Given the description of an element on the screen output the (x, y) to click on. 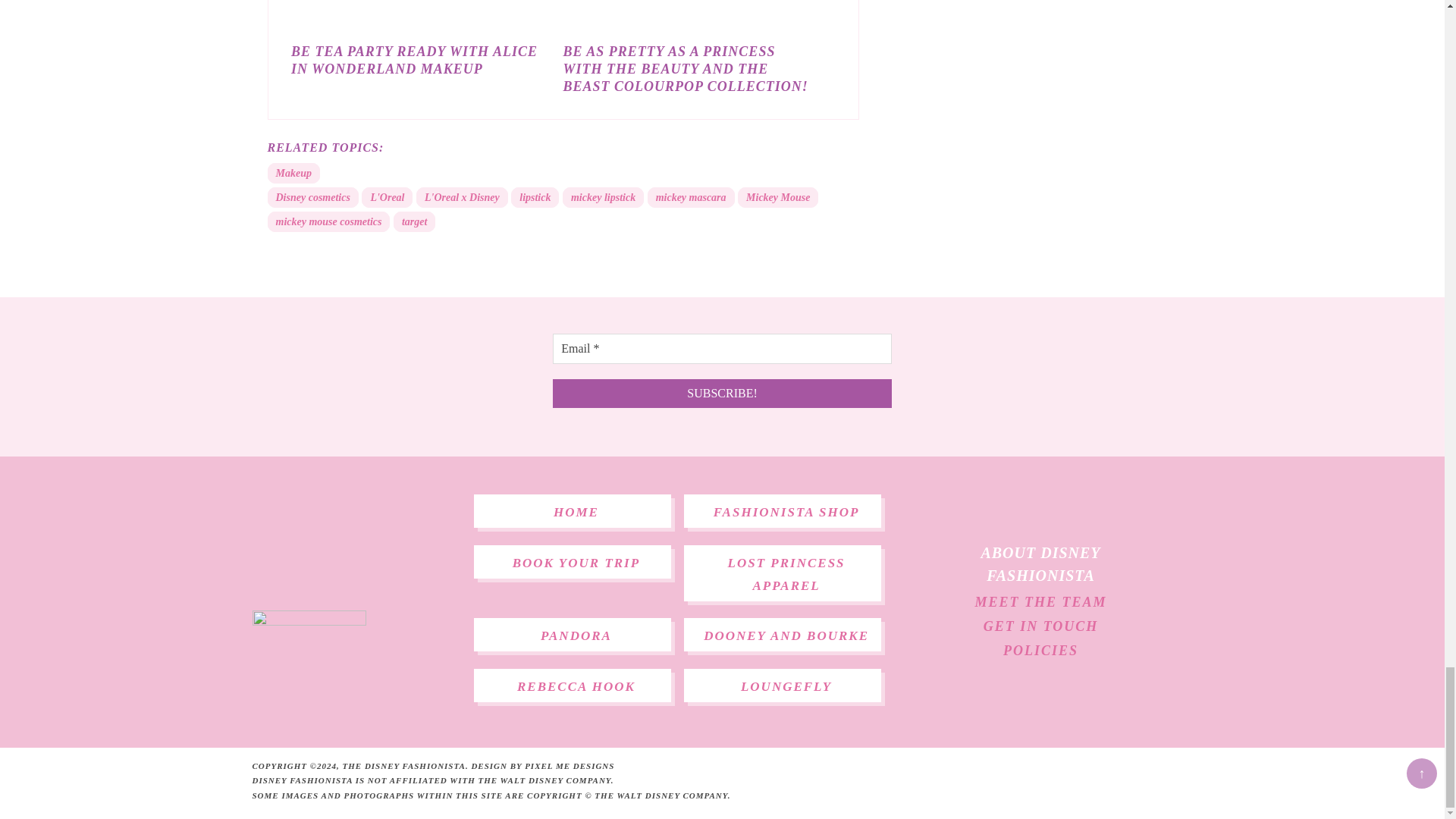
Subscribe! (722, 393)
